Given the description of an element on the screen output the (x, y) to click on. 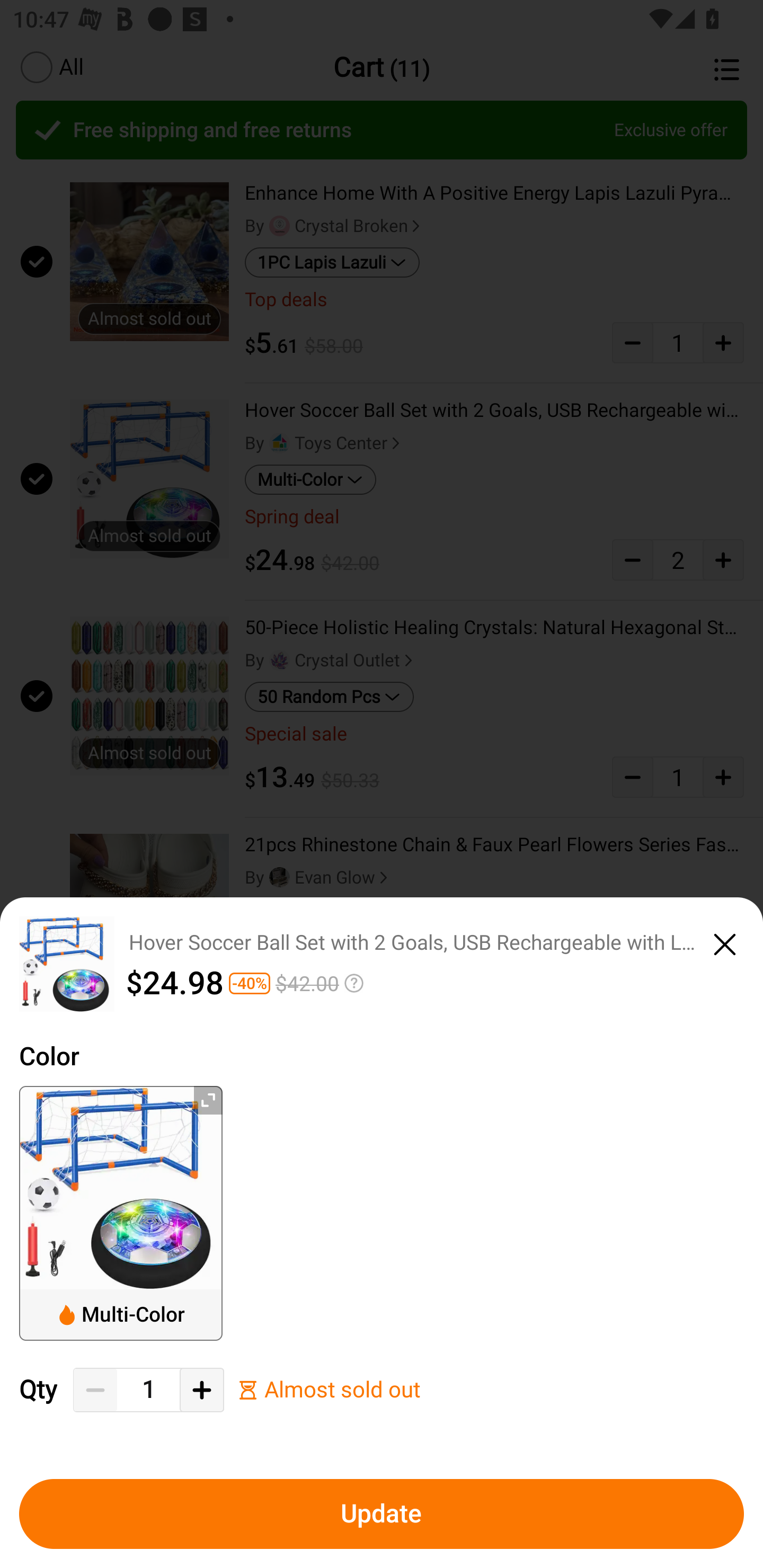
close (724, 941)
Multi-Color ￼Multi-Color (120, 1213)
Decrease Quantity Button (95, 1389)
Add Quantity Button (201, 1389)
1 (148, 1389)
Update (381, 1513)
